Given the description of an element on the screen output the (x, y) to click on. 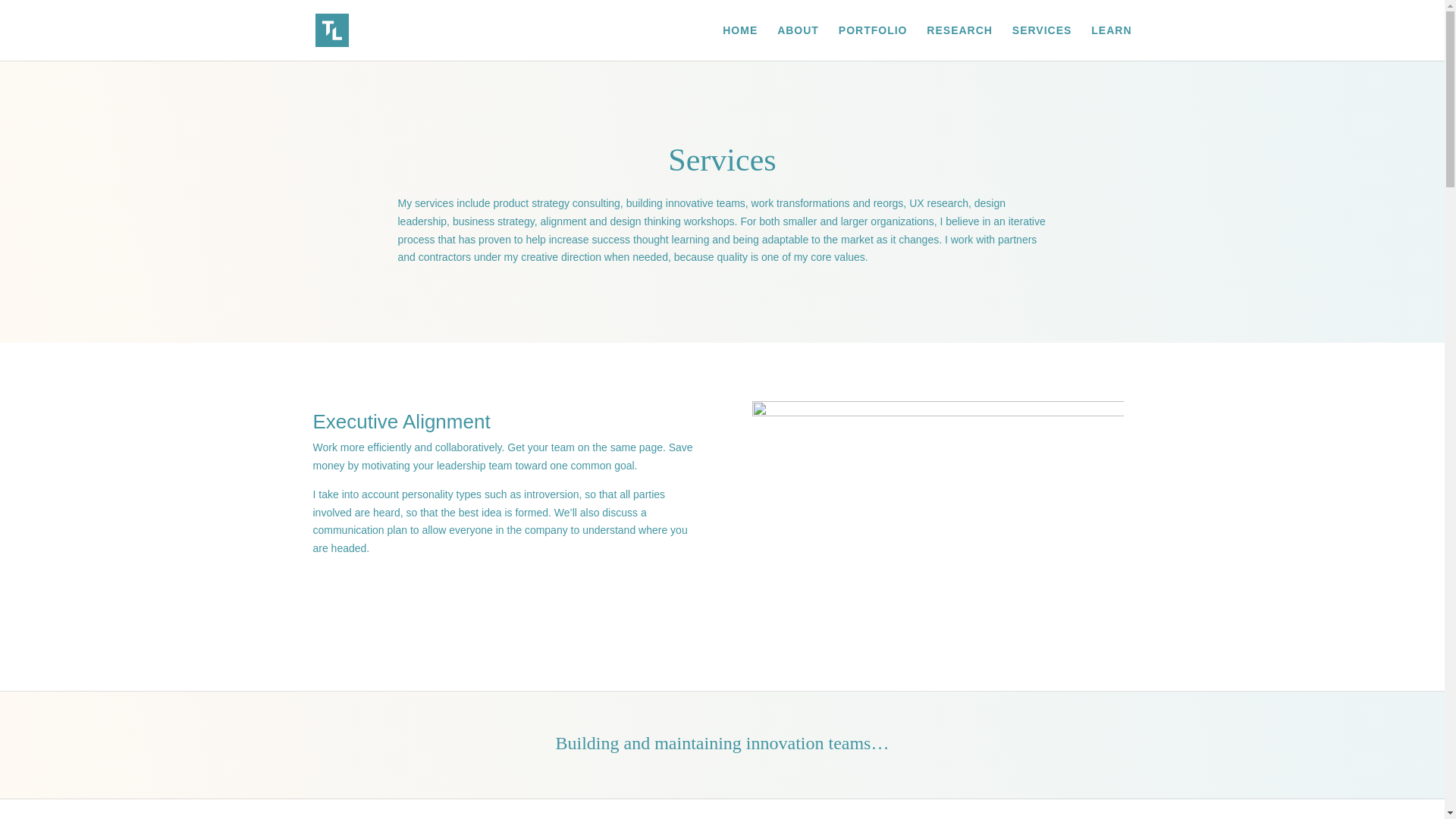
ABOUT (797, 42)
LEARN (1110, 42)
HOME (739, 42)
PORTFOLIO (872, 42)
SERVICES (1041, 42)
RESEARCH (959, 42)
